Given the description of an element on the screen output the (x, y) to click on. 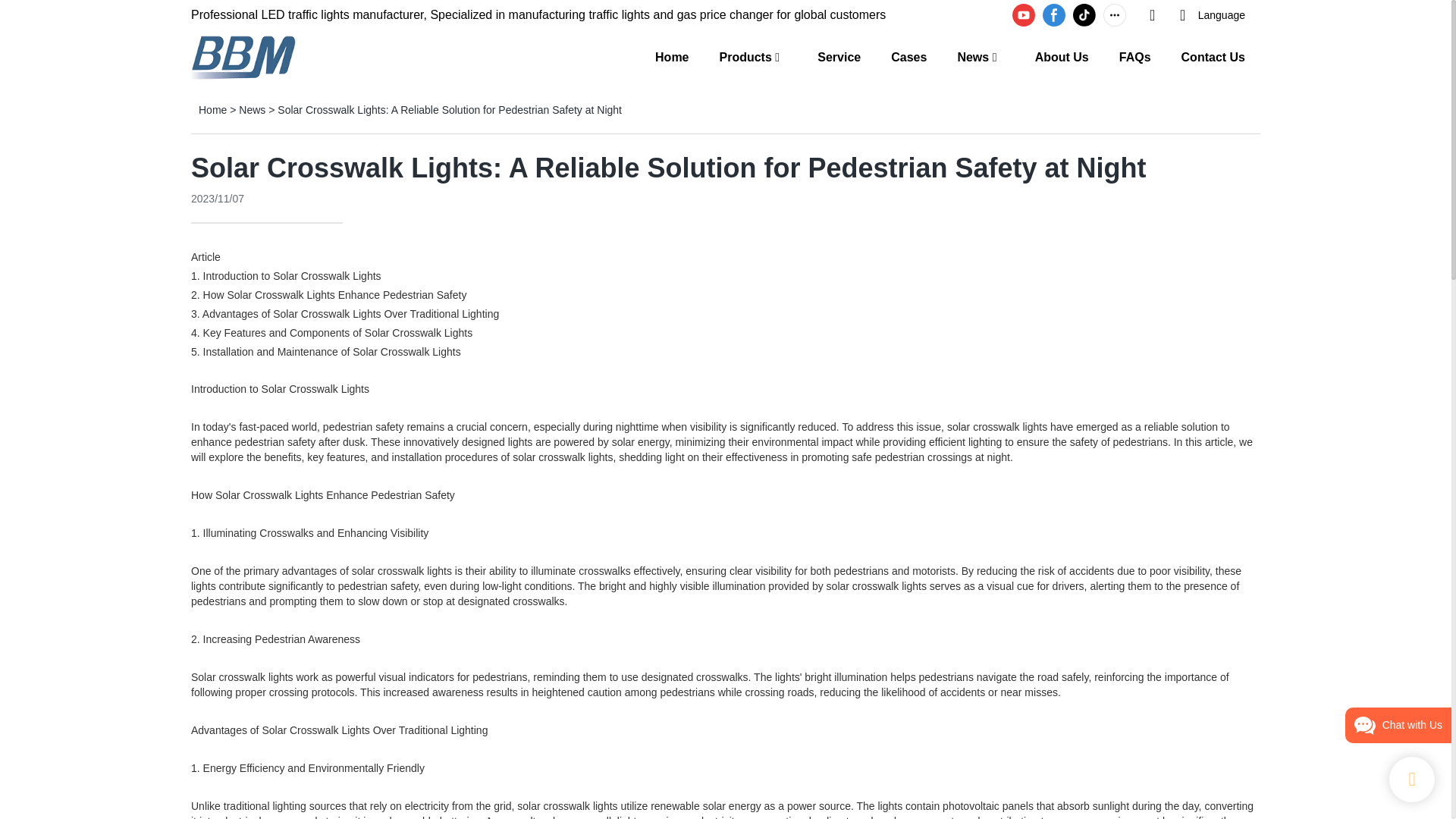
About Us (1062, 56)
Home (212, 110)
FAQs (1135, 56)
News (251, 110)
News (972, 56)
Service (838, 56)
youtube (1024, 15)
tiktok (1083, 15)
Contact Us (1212, 56)
Cases (908, 56)
Products (745, 56)
facebook (1053, 15)
Home (671, 56)
